Given the description of an element on the screen output the (x, y) to click on. 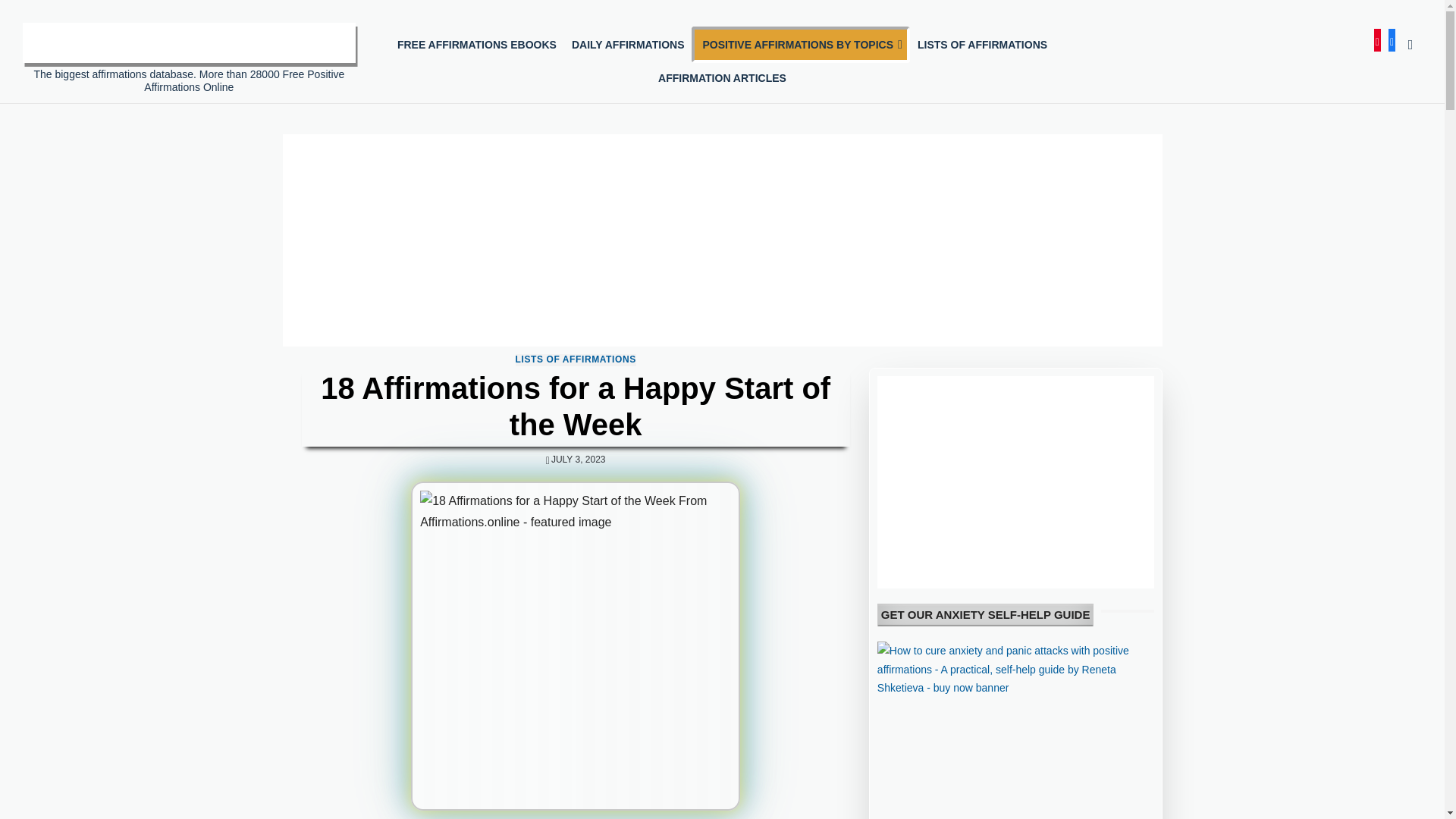
POSITIVE AFFIRMATIONS BY TOPICS (800, 44)
FREE AFFIRMATIONS EBOOKS (477, 44)
DAILY AFFIRMATIONS (628, 44)
AFFIRMATION ARTICLES (721, 78)
LISTS OF AFFIRMATIONS (982, 44)
Advertisement (1015, 481)
LISTS OF AFFIRMATIONS (575, 358)
